Given the description of an element on the screen output the (x, y) to click on. 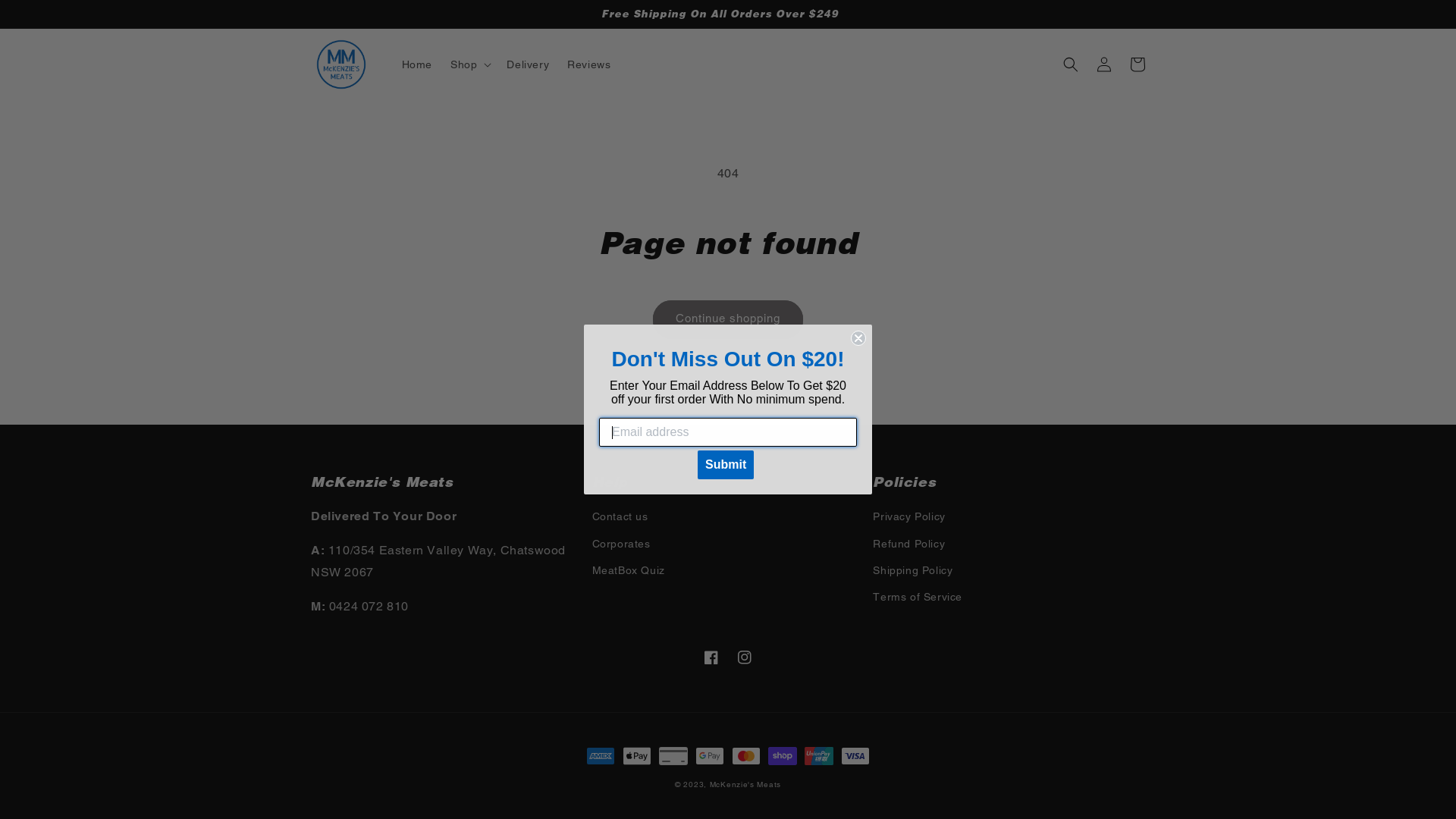
Submit Element type: text (21, 7)
Close dialog 1 Element type: text (858, 337)
Instagram Element type: text (744, 657)
Facebook Element type: text (711, 657)
McKenzie's Meats Element type: text (745, 784)
Terms of Service Element type: text (917, 596)
Shipping Policy Element type: text (912, 570)
Continue shopping Element type: text (727, 318)
Submit Element type: text (725, 464)
Delivery Element type: text (527, 64)
Contact us Element type: text (620, 518)
Reviews Element type: text (588, 64)
Home Element type: text (416, 64)
Privacy Policy Element type: text (908, 518)
Corporates Element type: text (621, 543)
MeatBox Quiz Element type: text (628, 570)
Cart Element type: text (1137, 64)
Refund Policy Element type: text (908, 543)
Log in Element type: text (1103, 64)
